Given the description of an element on the screen output the (x, y) to click on. 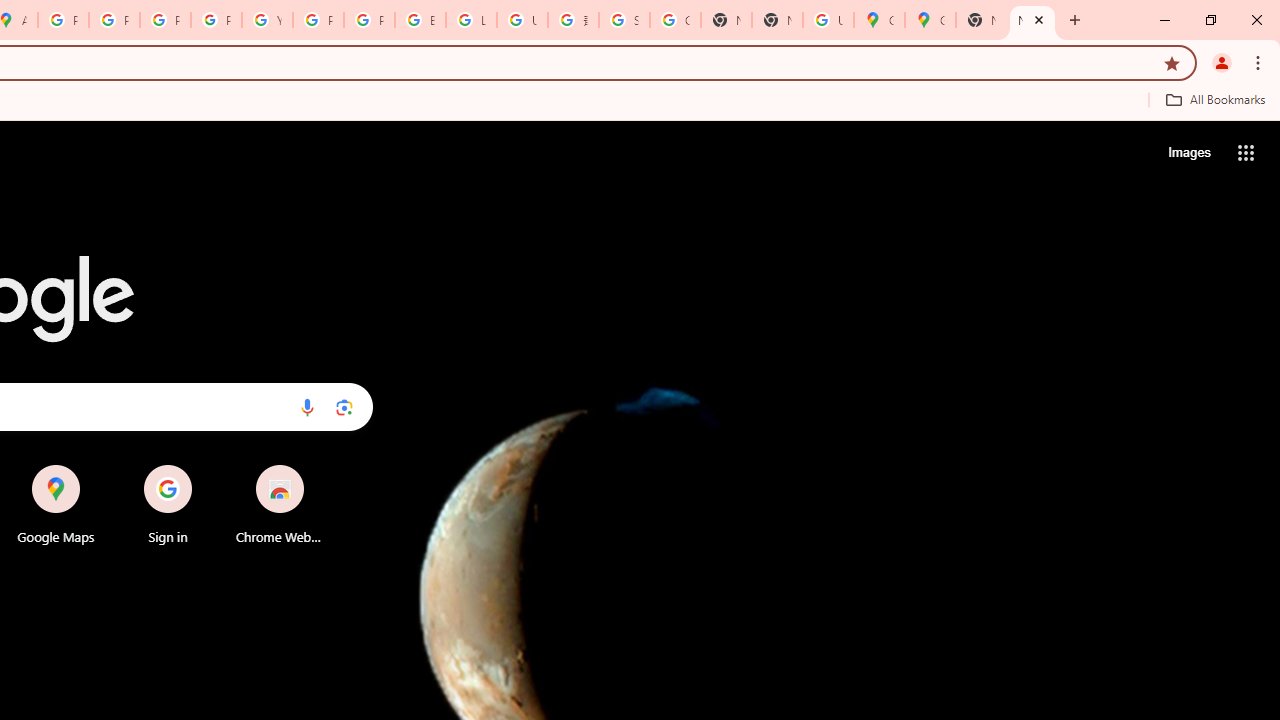
Chrome Web Store (279, 504)
Use Google Maps in Space - Google Maps Help (827, 20)
Privacy Help Center - Policies Help (113, 20)
Privacy Help Center - Policies Help (164, 20)
Sign in - Google Accounts (624, 20)
Policy Accountability and Transparency - Transparency Center (63, 20)
Search for Images  (1188, 152)
